Given the description of an element on the screen output the (x, y) to click on. 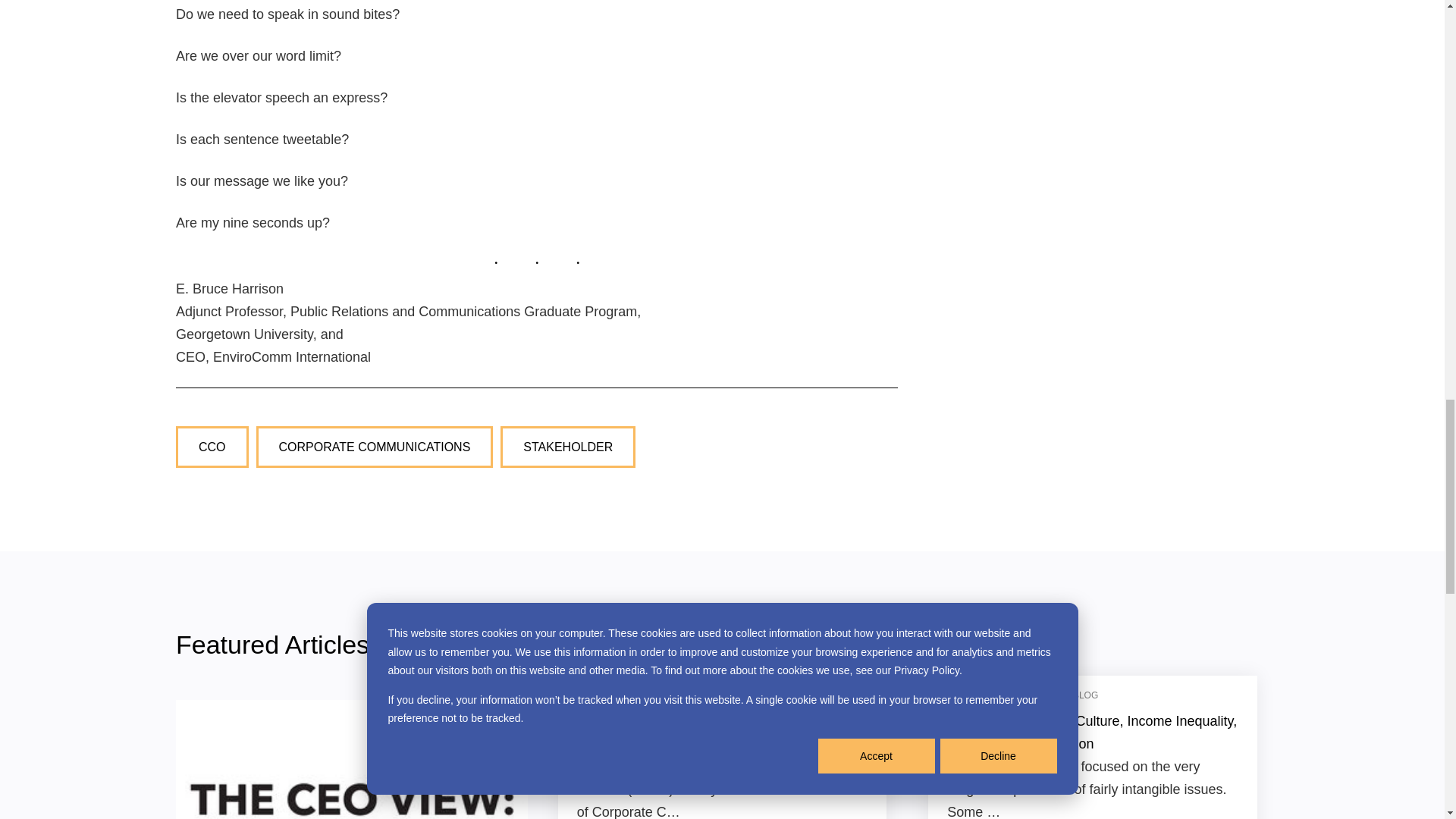
CCO (211, 446)
corporate communications (374, 446)
CCO (211, 446)
Stakeholder (567, 446)
